Given the description of an element on the screen output the (x, y) to click on. 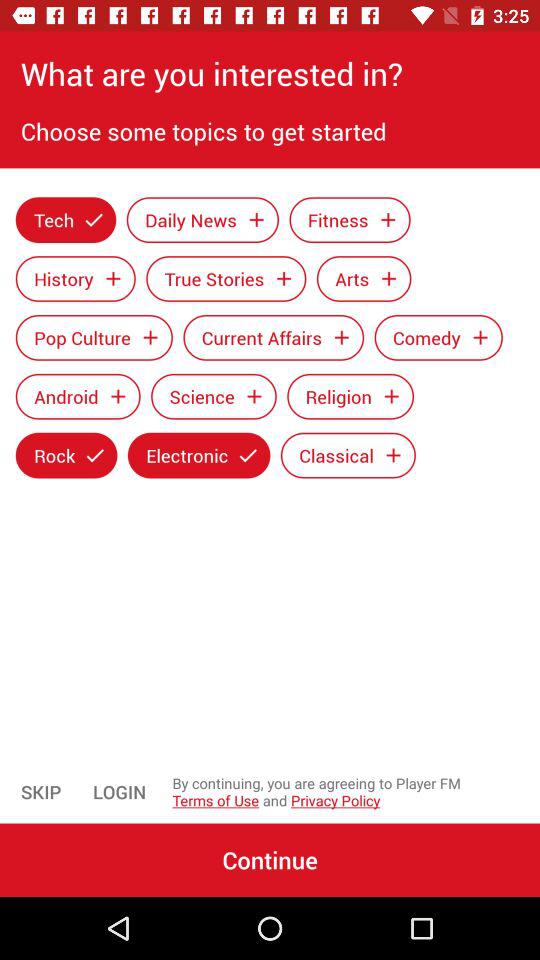
flip until login item (119, 791)
